Given the description of an element on the screen output the (x, y) to click on. 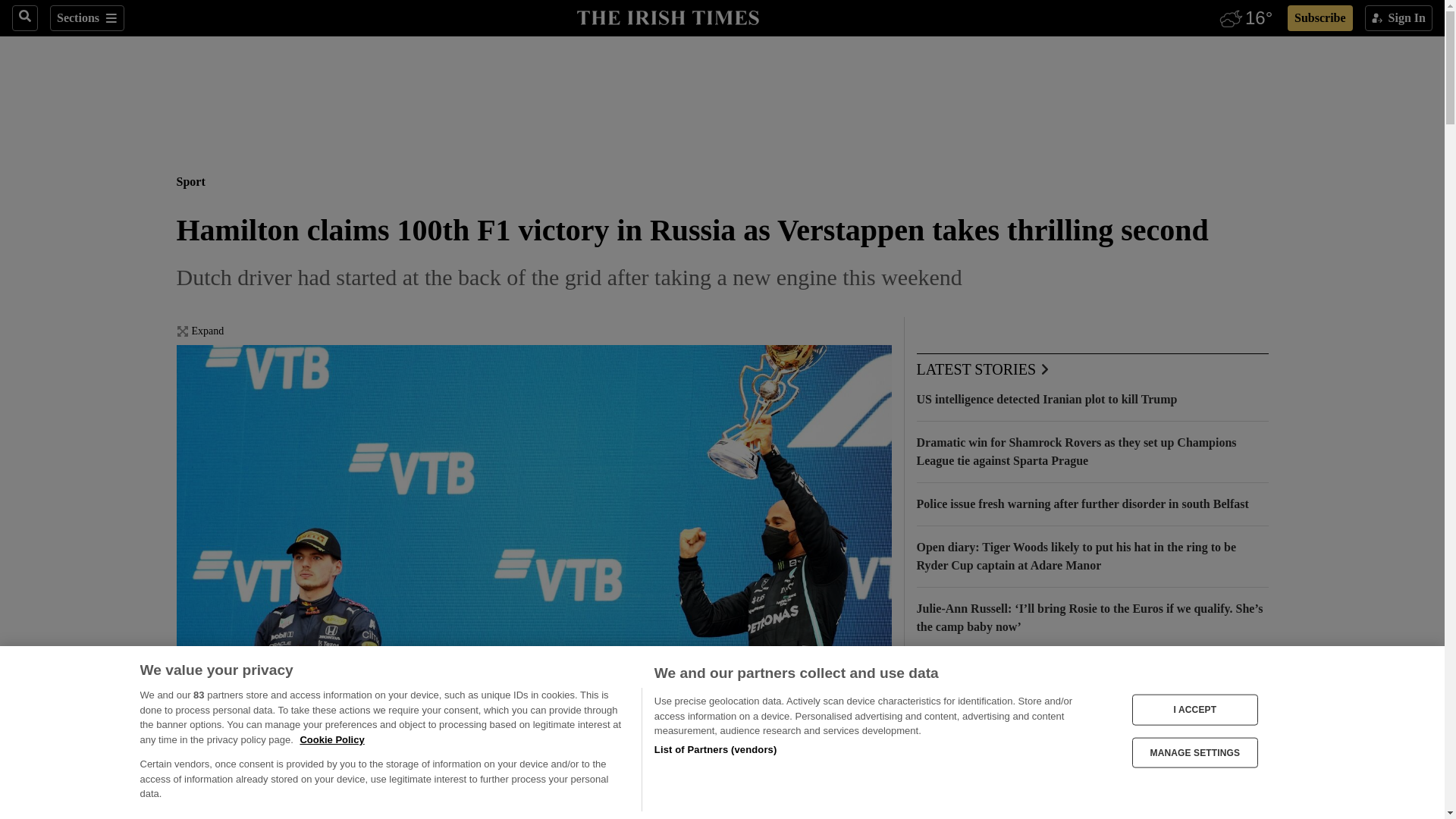
Sections (86, 17)
The Irish Times (667, 16)
Sign In (1398, 17)
Subscribe (1319, 17)
